Given the description of an element on the screen output the (x, y) to click on. 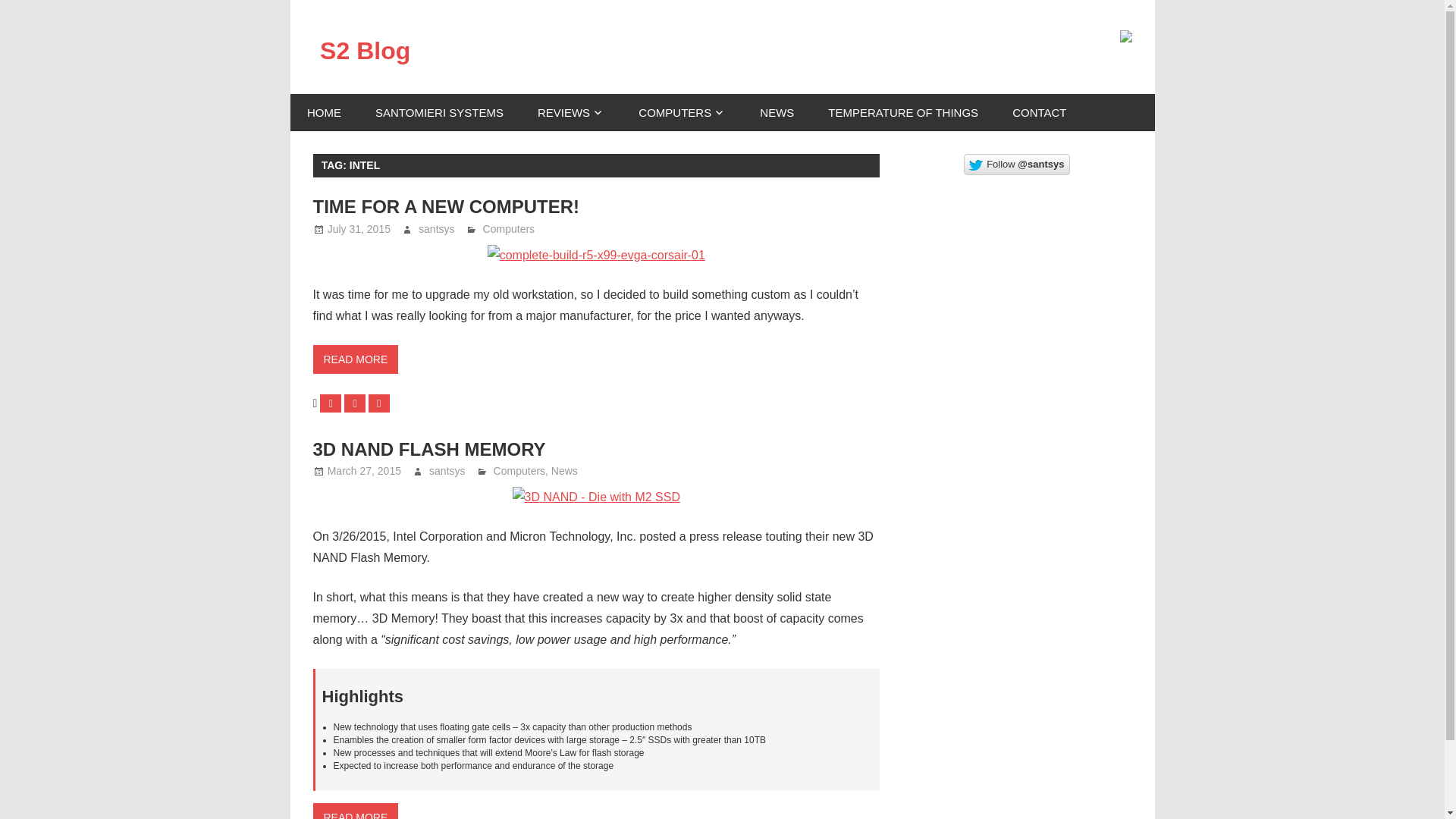
News (564, 470)
Computers (518, 470)
santsys (446, 470)
TIME FOR A NEW COMPUTER! (446, 206)
View all posts by santsys (436, 228)
9:20 pm (364, 470)
S2 Blog (365, 50)
7:29 am (358, 228)
santsys (436, 228)
CONTACT (1039, 112)
